Given the description of an element on the screen output the (x, y) to click on. 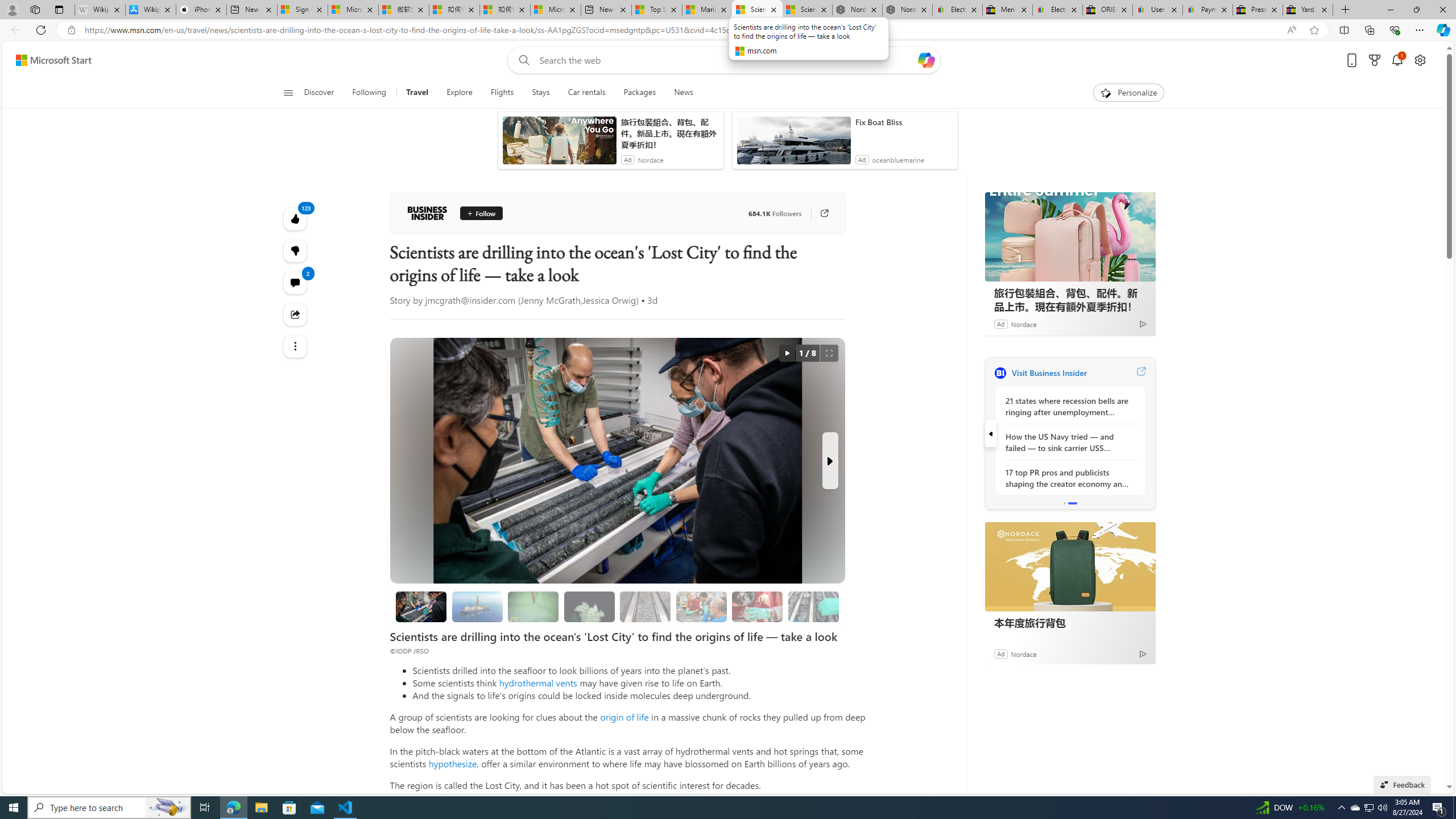
Next Slide (829, 460)
Researchers are still studying the samples (813, 606)
Flights (501, 92)
User Privacy Notice | eBay (1158, 9)
